Given the description of an element on the screen output the (x, y) to click on. 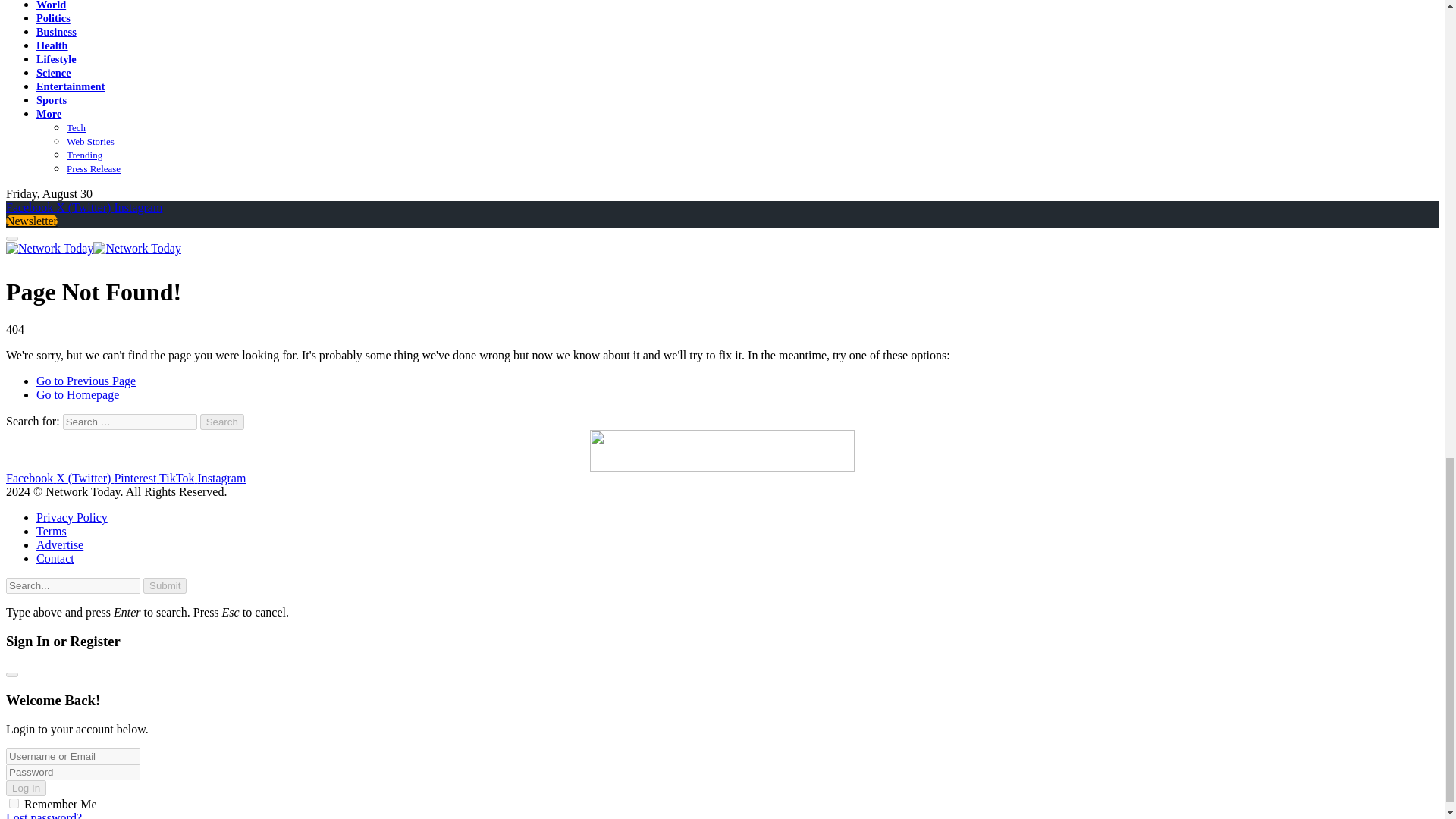
Search (222, 421)
Network Today (92, 247)
Search (222, 421)
forever (13, 803)
